Given the description of an element on the screen output the (x, y) to click on. 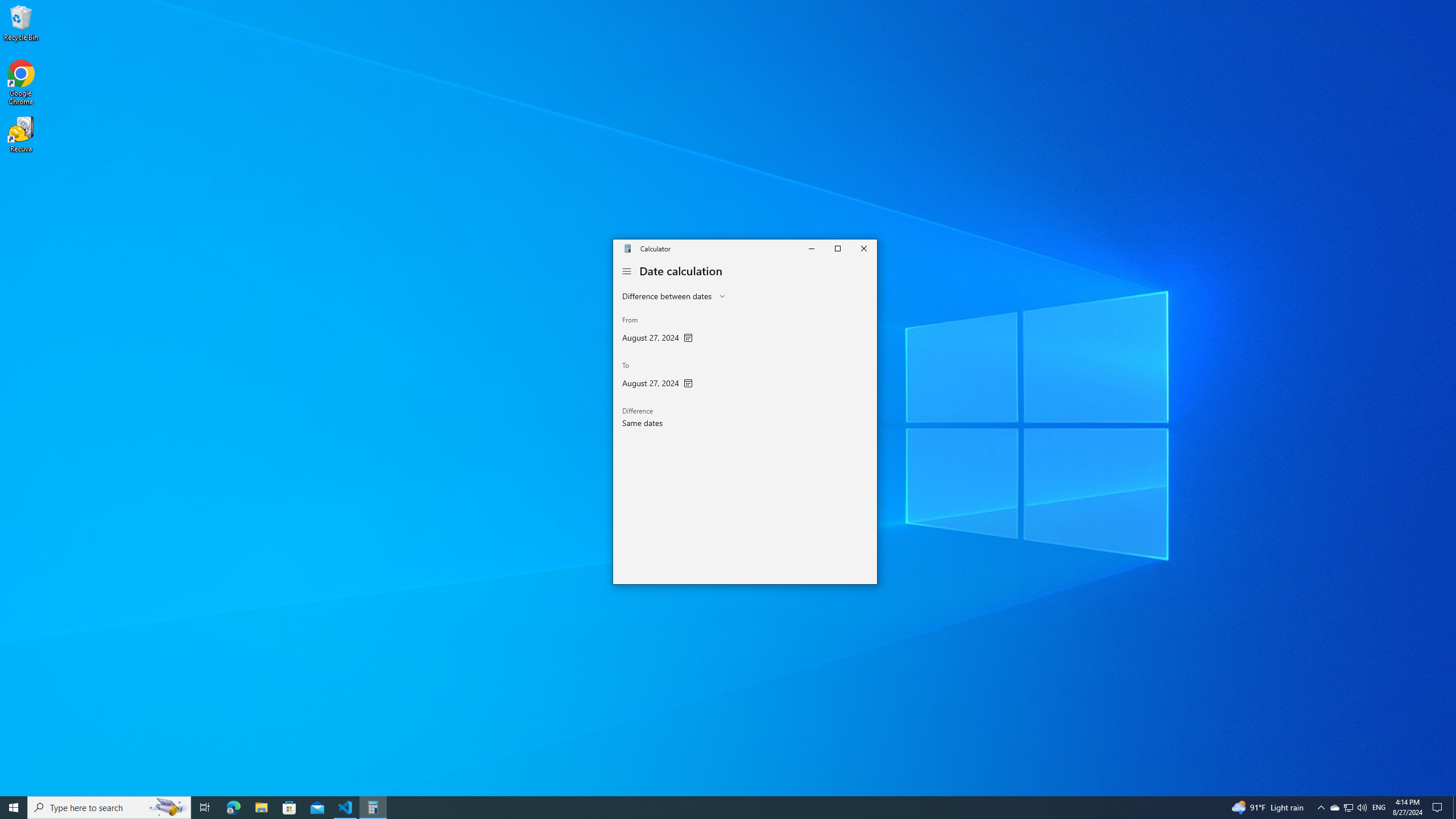
From (656, 331)
Difference between dates (666, 295)
Maximize Calculator (837, 248)
Search highlights icon opens search home window (167, 807)
Tray Input Indicator - English (United States) (1378, 807)
Visual Studio Code - 1 running window (345, 807)
Calculator - 1 running window (373, 807)
User Promoted Notification Area (1347, 807)
Microsoft Store (289, 807)
Action Center, No new notifications (1439, 807)
Calculation mode (673, 296)
Show desktop (1454, 807)
